Given the description of an element on the screen output the (x, y) to click on. 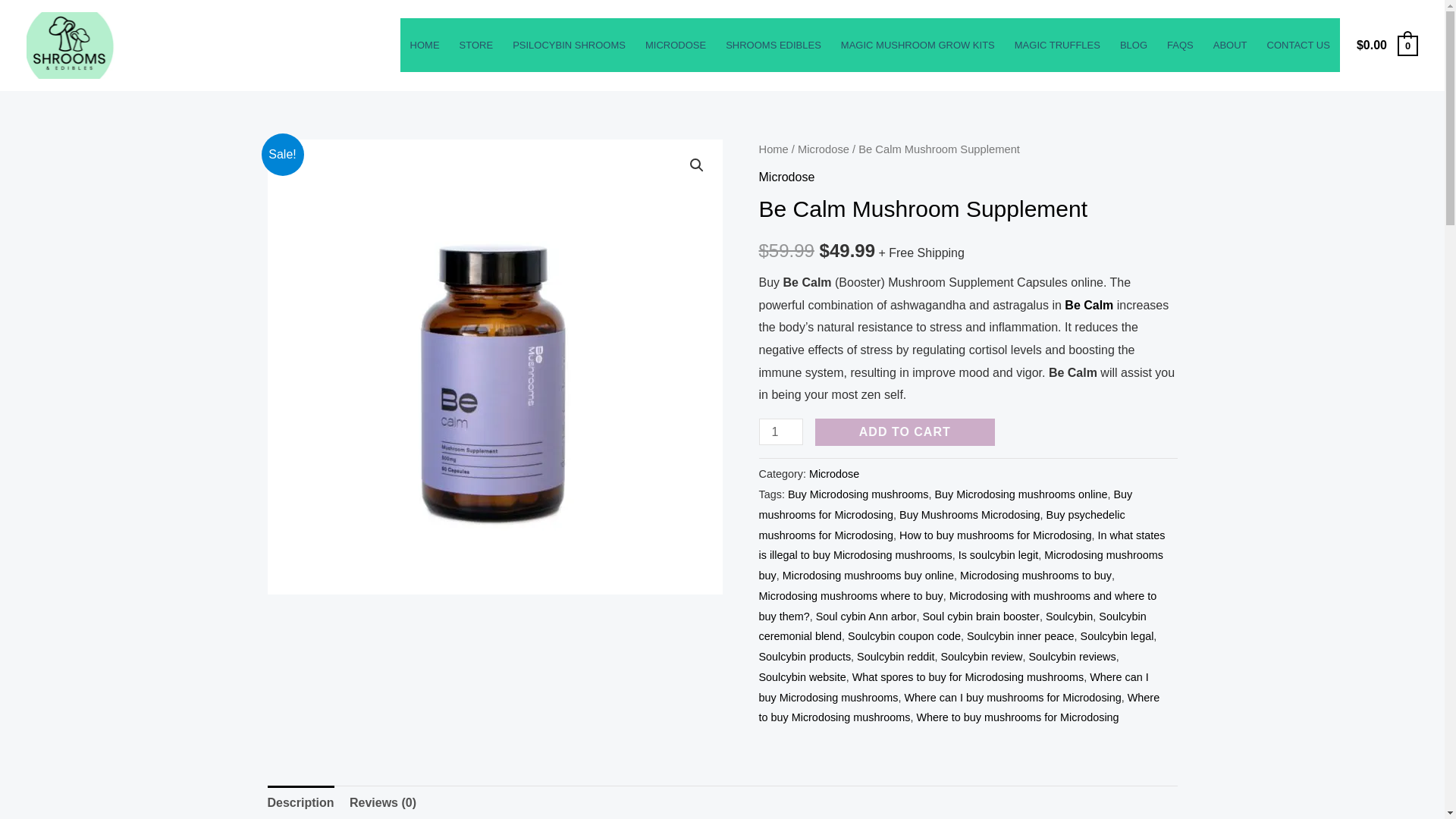
Microdose (785, 176)
MAGIC TRUFFLES (1056, 45)
Microdose (834, 473)
CONTACT US (1298, 45)
Buy Microdosing mushrooms online (1020, 494)
Buy psychedelic mushrooms for Microdosing (941, 524)
Microdosing mushrooms buy online (868, 575)
Microdose (822, 149)
Is soulcybin legit (998, 554)
How to buy mushrooms for Microdosing (995, 535)
